Given the description of an element on the screen output the (x, y) to click on. 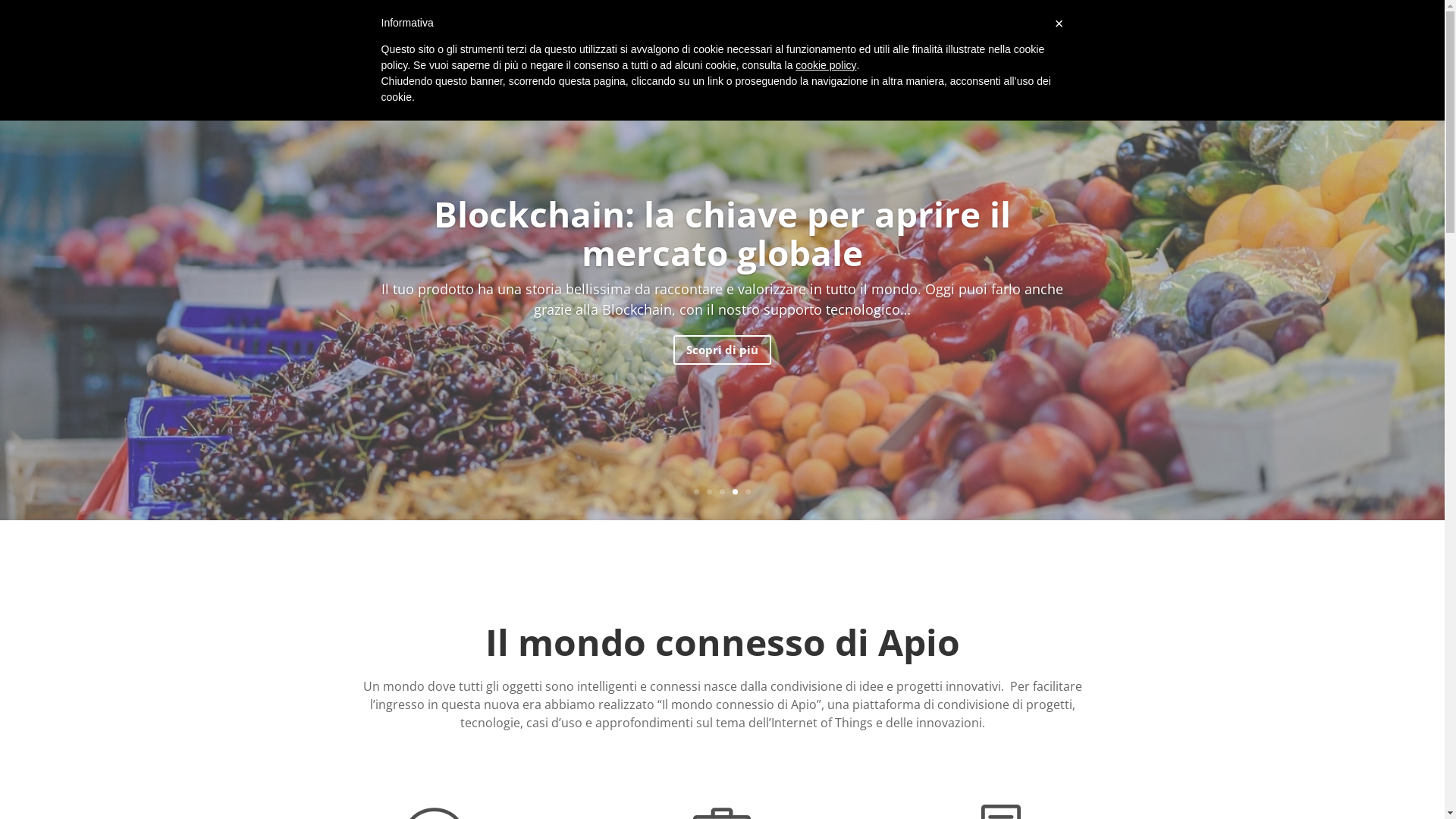
4 Element type: text (734, 491)
1 Element type: text (696, 491)
3 Element type: text (721, 491)
Blockchain: la chiave per aprire il mercato globale Element type: text (721, 233)
2 Element type: text (709, 491)
Blog Element type: text (1089, 32)
cookie policy Element type: text (825, 65)
5 Element type: text (747, 491)
